Given the description of an element on the screen output the (x, y) to click on. 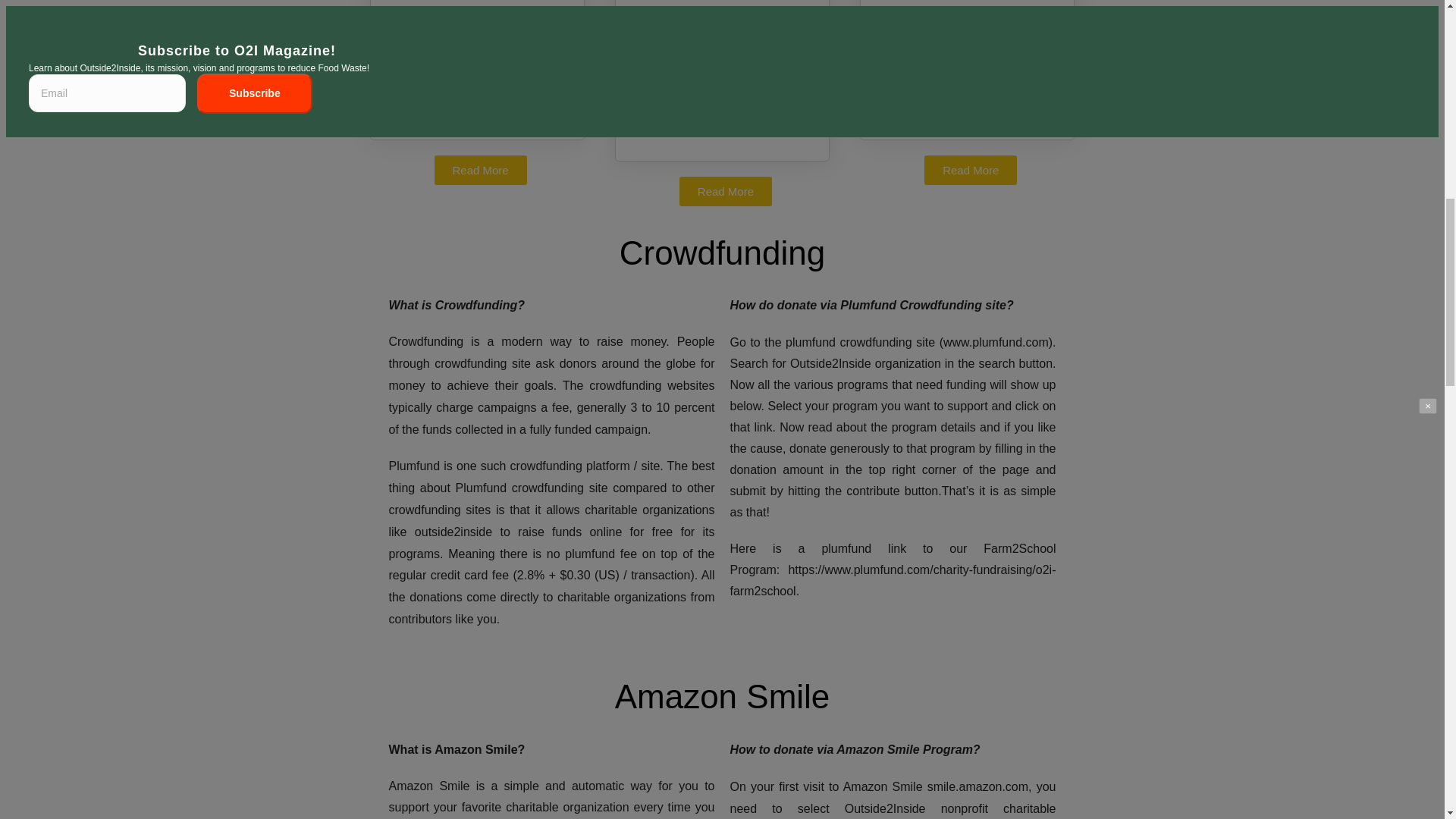
Read More (970, 170)
Read More (725, 191)
Read More (479, 170)
smile.amazon.com (977, 786)
